Given the description of an element on the screen output the (x, y) to click on. 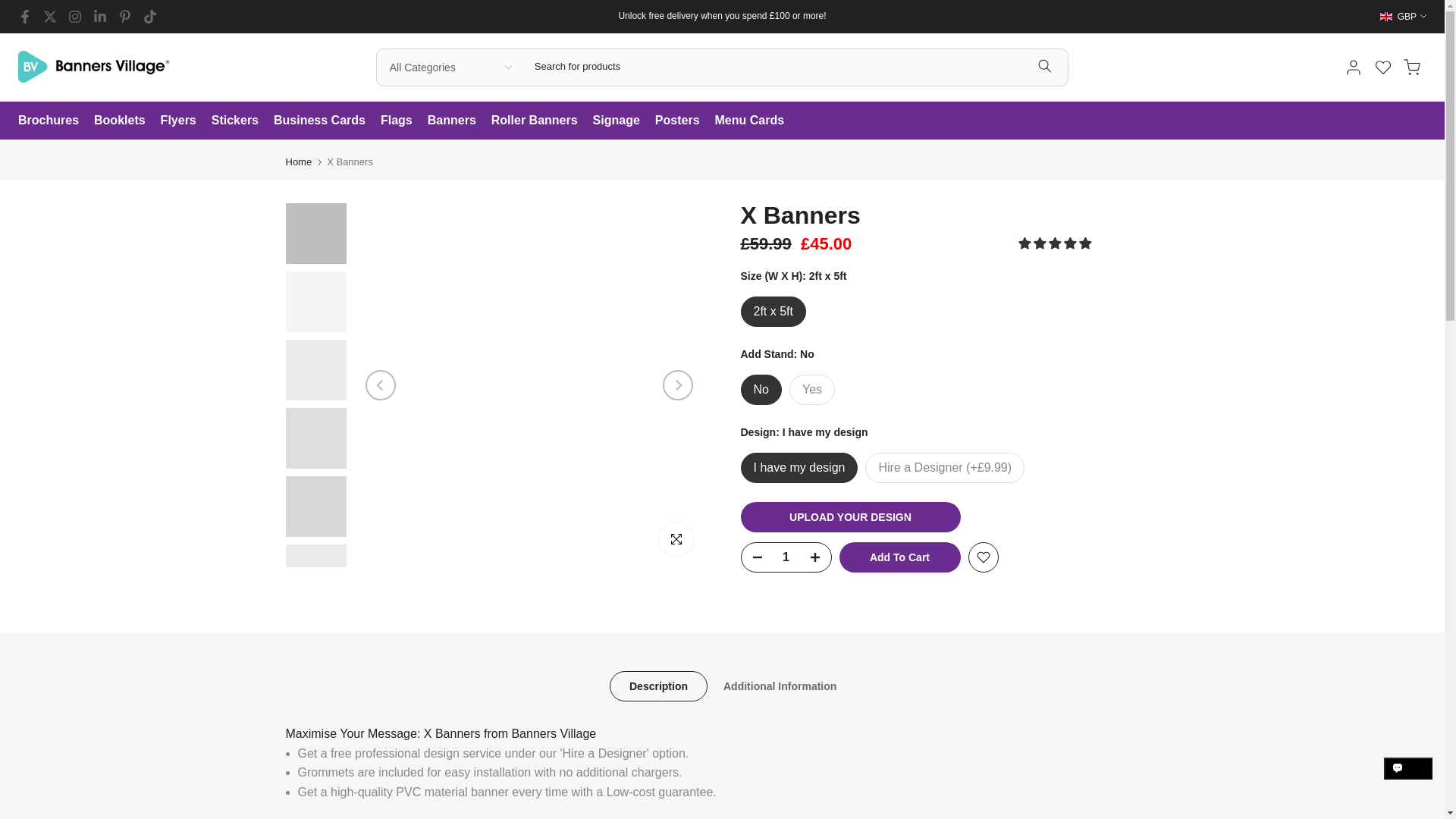
Banners (460, 120)
Flyers (185, 120)
Stickers (242, 120)
Roller Banners (542, 120)
Business Cards (326, 120)
Skip to content (10, 7)
GBP (1403, 16)
Posters (684, 120)
Brochures (55, 120)
Menu Cards (756, 120)
